Given the description of an element on the screen output the (x, y) to click on. 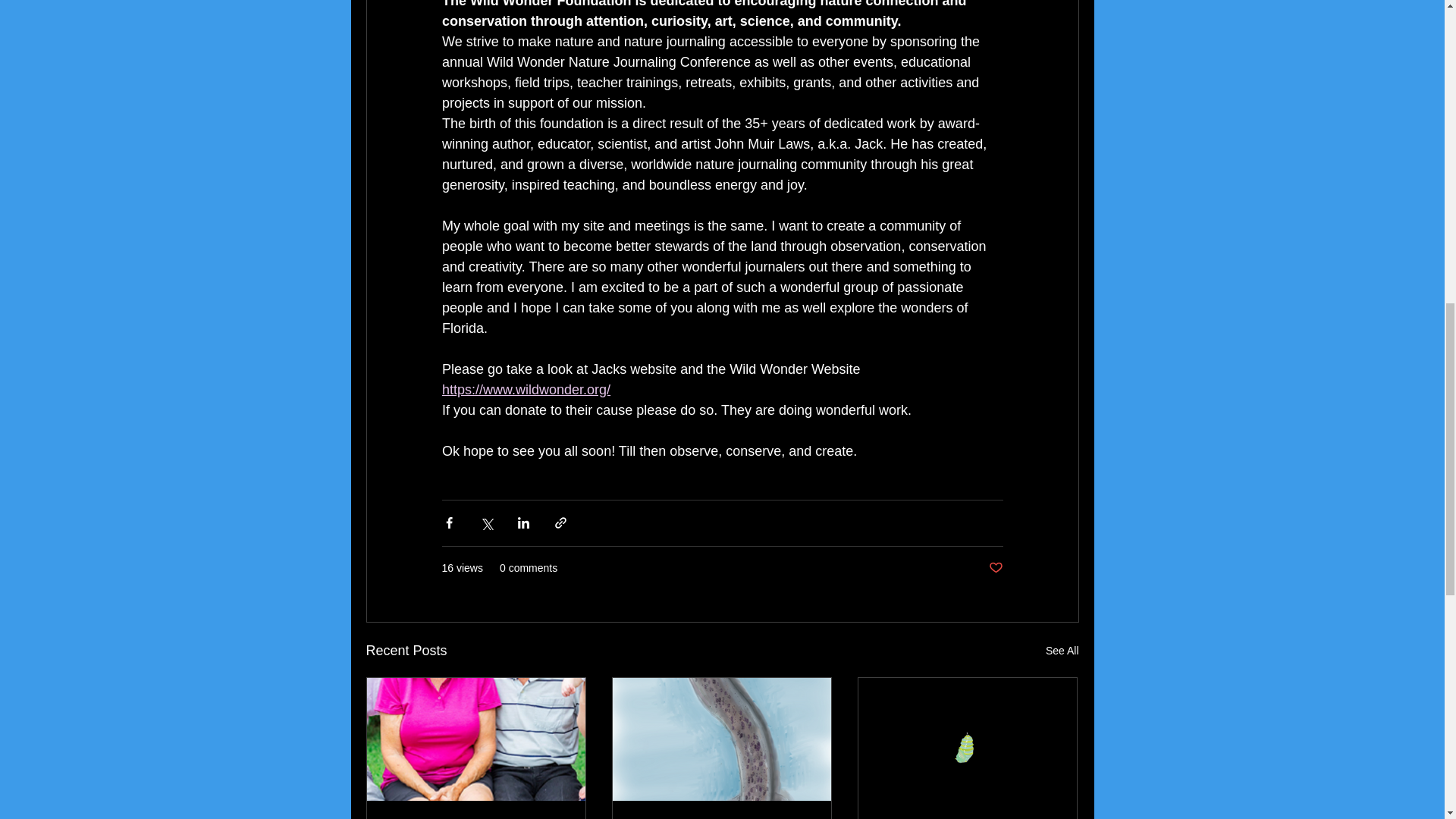
Post not marked as liked (995, 568)
See All (1061, 650)
